Given the description of an element on the screen output the (x, y) to click on. 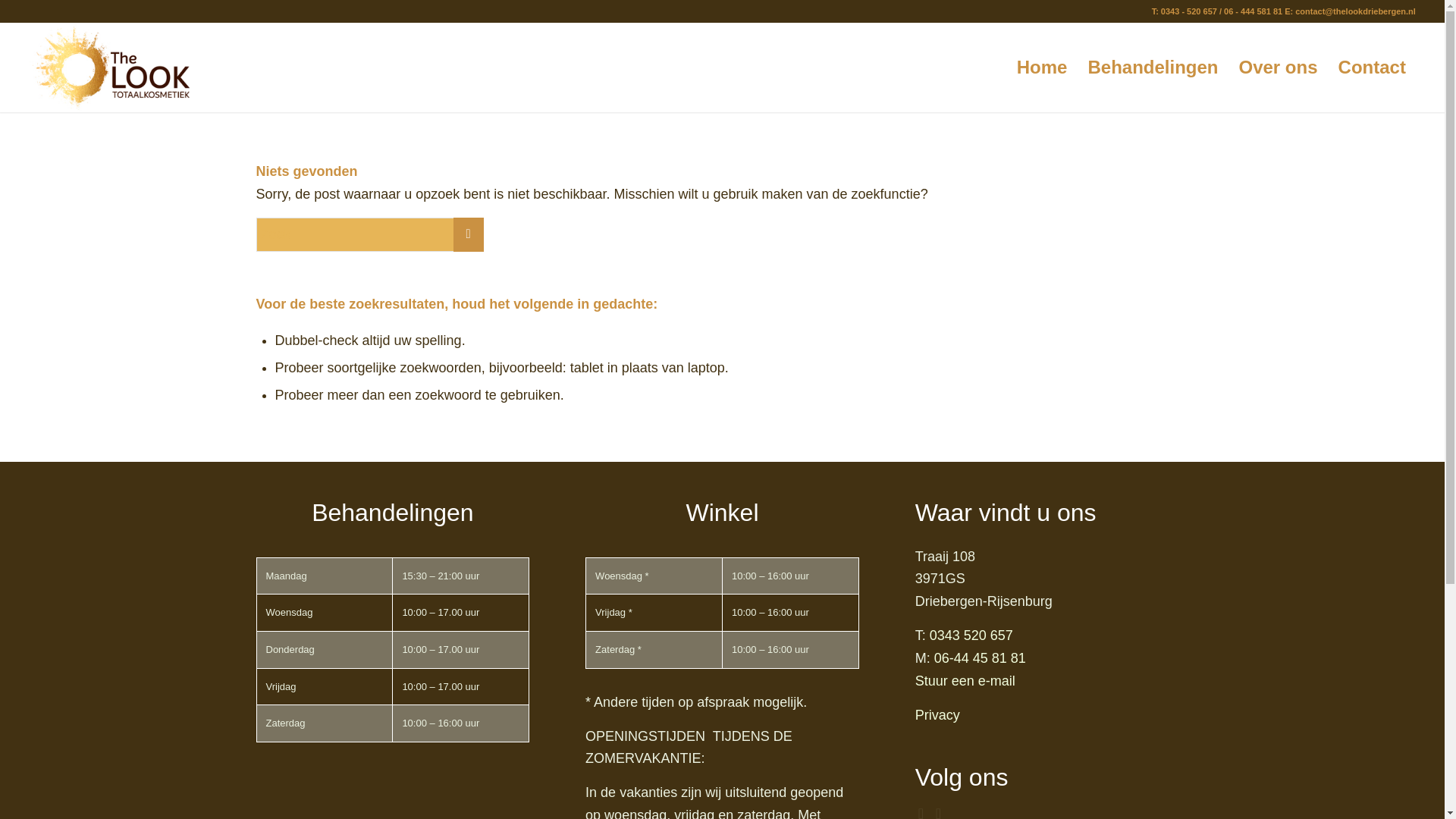
Privacy (937, 714)
0343 520 657 (971, 635)
Stuur een e-mail (964, 680)
Behandelingen (1152, 67)
06-44 45 81 81 (980, 657)
0343 - 520 657 (1188, 10)
Over ons (1277, 67)
06 - 444 581 81 (1253, 10)
Contact (1371, 67)
